Given the description of an element on the screen output the (x, y) to click on. 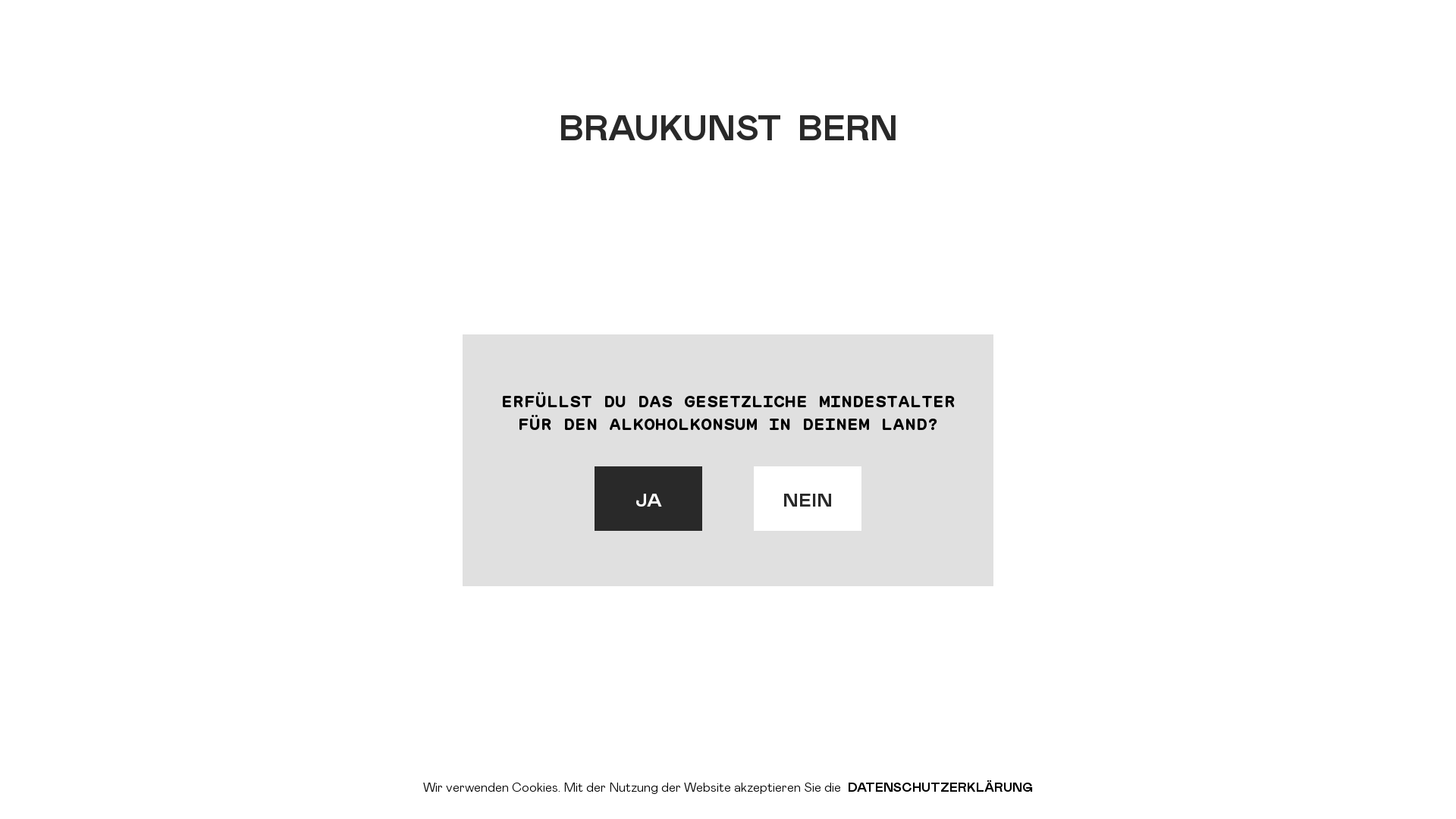
NEIN Element type: text (806, 498)
BRAU
KUNST
  BERN Element type: text (727, 135)
JA Element type: text (647, 498)
